Given the description of an element on the screen output the (x, y) to click on. 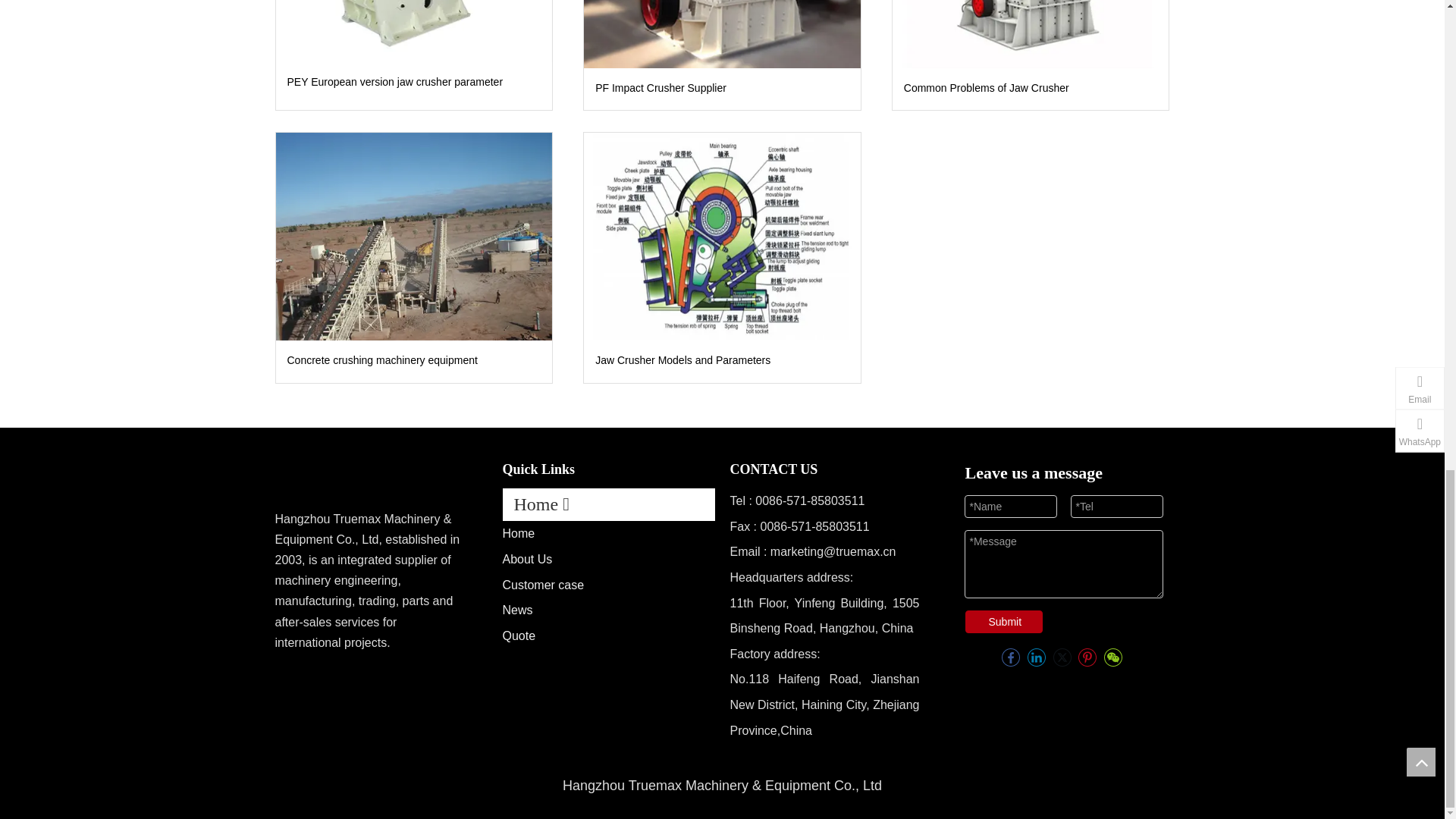
Facebook (1010, 645)
 Quote  (518, 635)
Concrete crushing machinery equipment (413, 361)
PF Impact Crusher Supplier (721, 33)
Concrete crushing machinery equipment (414, 235)
PEY European version jaw crusher parameter (413, 82)
Common Problems of Jaw Crusher (1030, 33)
Jaw Crusher Models and Parameters (721, 235)
Common Problems of Jaw Crusher (1030, 88)
Home (518, 533)
